Given the description of an element on the screen output the (x, y) to click on. 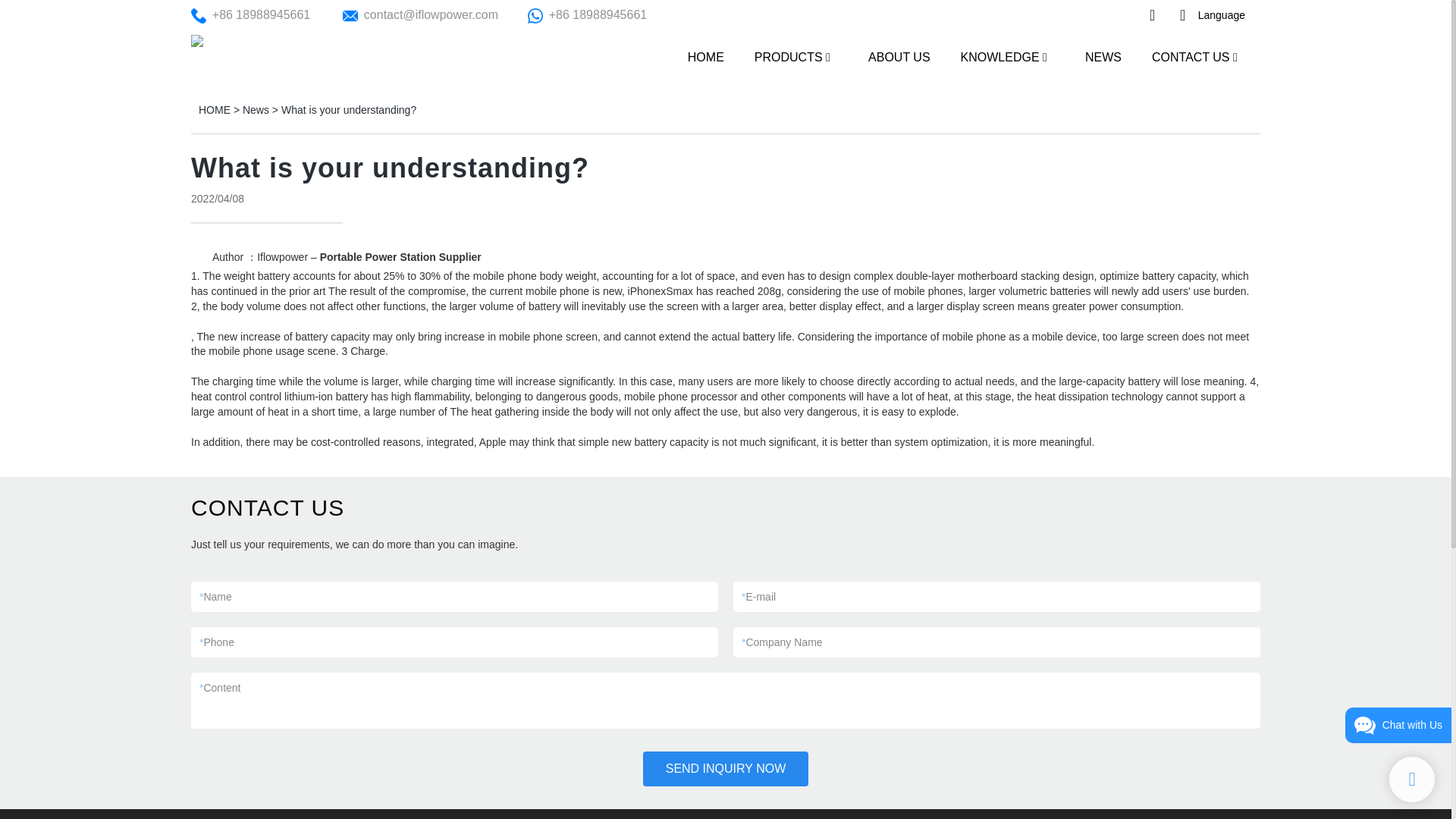
What is your understanding? (348, 110)
NEWS (1102, 56)
PRODUCTS (788, 56)
KNOWLEDGE (999, 56)
Portable Power Station Supplier (400, 256)
News (256, 110)
HOME (214, 110)
CONTACT US (1190, 56)
HOME (705, 56)
SEND INQUIRY NOW (726, 768)
ABOUT US (898, 56)
